Given the description of an element on the screen output the (x, y) to click on. 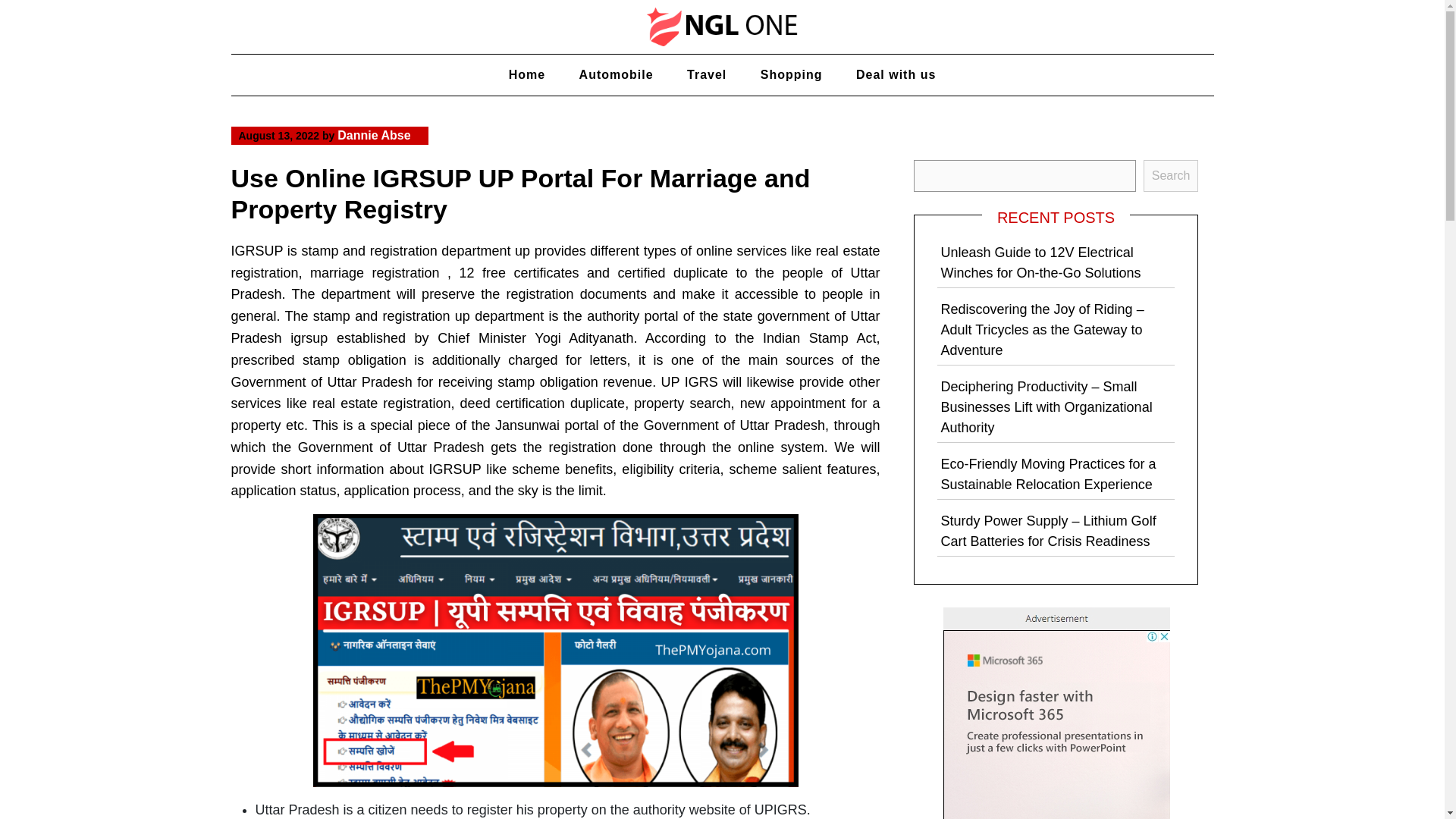
Home (526, 74)
Posts by Dannie Abse (373, 134)
Search (1170, 175)
Travel (706, 74)
Automobile (616, 74)
Dannie Abse (373, 134)
Shopping (791, 74)
Deal with us (895, 74)
